Given the description of an element on the screen output the (x, y) to click on. 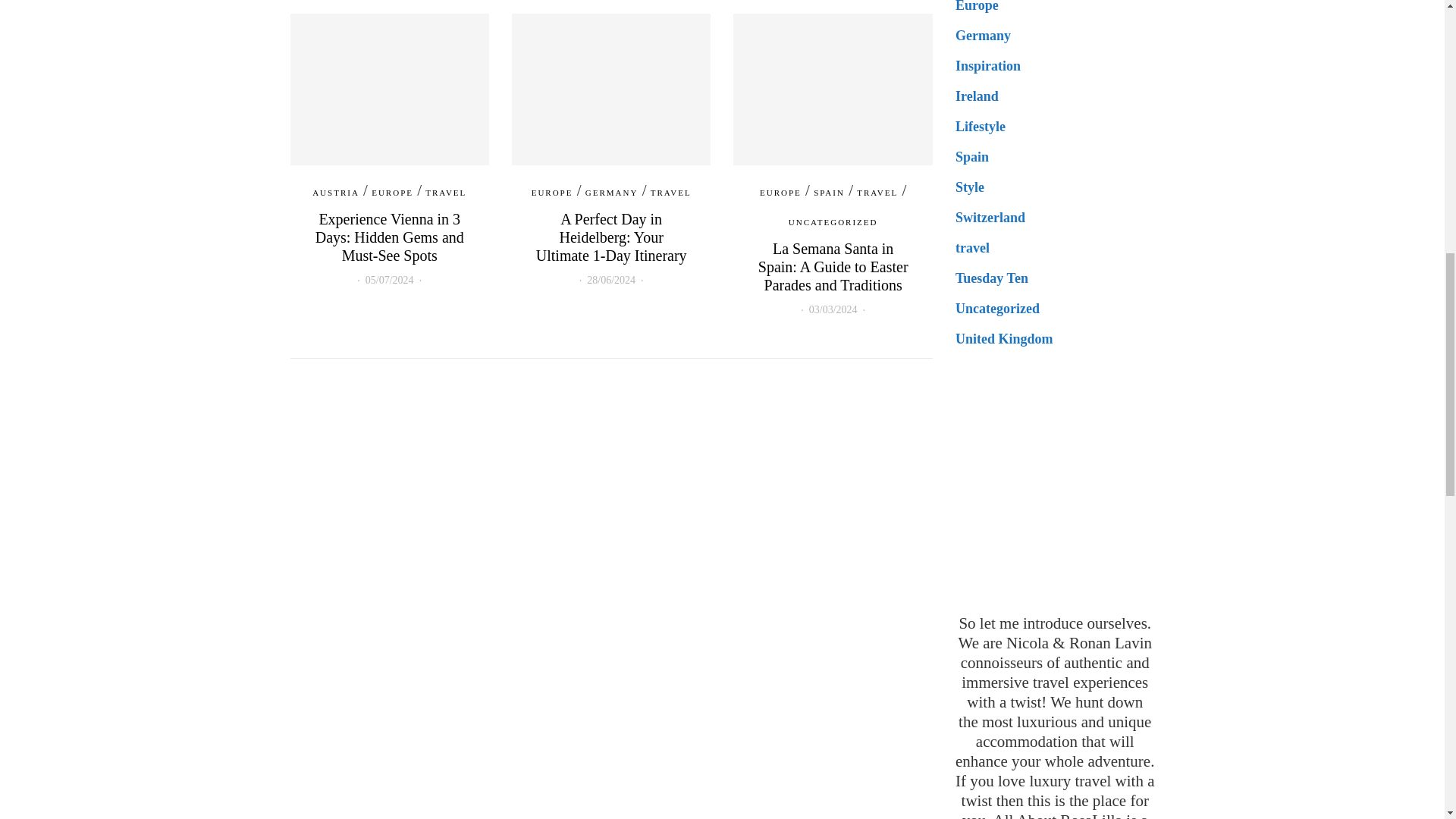
TRAVEL (670, 192)
Experience Vienna in 3 Days: Hidden Gems and Must-See Spots (389, 236)
Europe (976, 6)
EUROPE (552, 192)
A Perfect Day in Heidelberg: Your Ultimate 1-Day Itinerary (611, 236)
SPAIN (828, 192)
EUROPE (781, 192)
TRAVEL (445, 192)
AUSTRIA (336, 192)
Germany (982, 35)
GERMANY (612, 192)
UNCATEGORIZED (833, 221)
EUROPE (392, 192)
TRAVEL (877, 192)
